Given the description of an element on the screen output the (x, y) to click on. 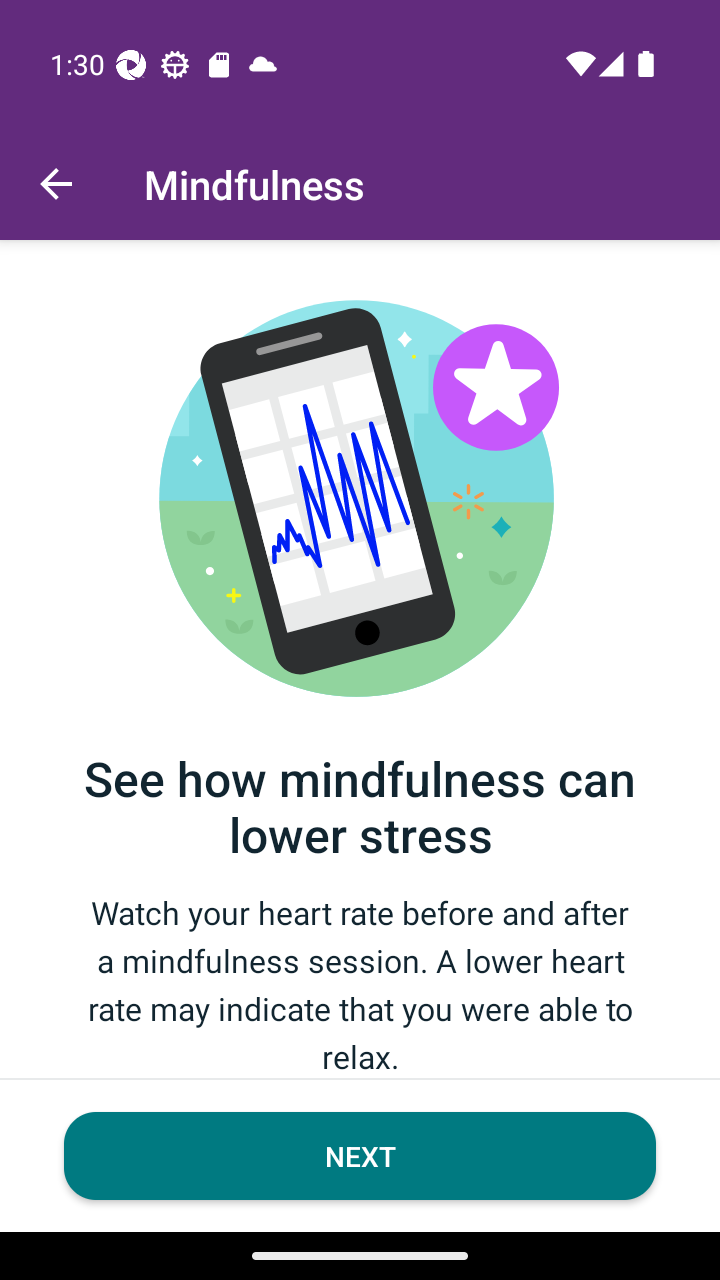
Navigate up (56, 184)
NEXT (359, 1156)
